Given the description of an element on the screen output the (x, y) to click on. 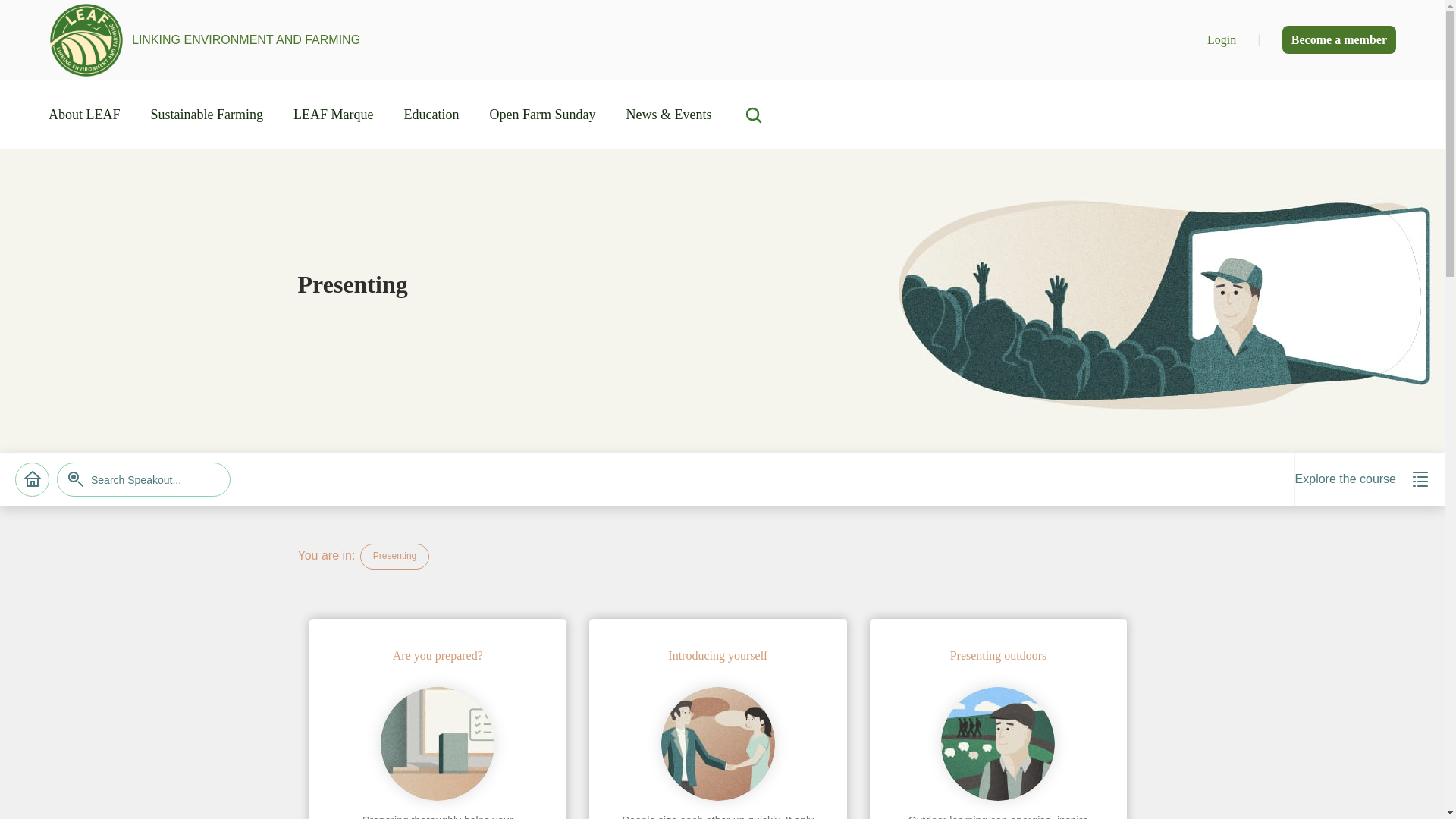
About LEAF (84, 114)
LINKING ENVIRONMENT AND FARMING (203, 38)
Login (1223, 39)
Become a member (1339, 39)
